Given the description of an element on the screen output the (x, y) to click on. 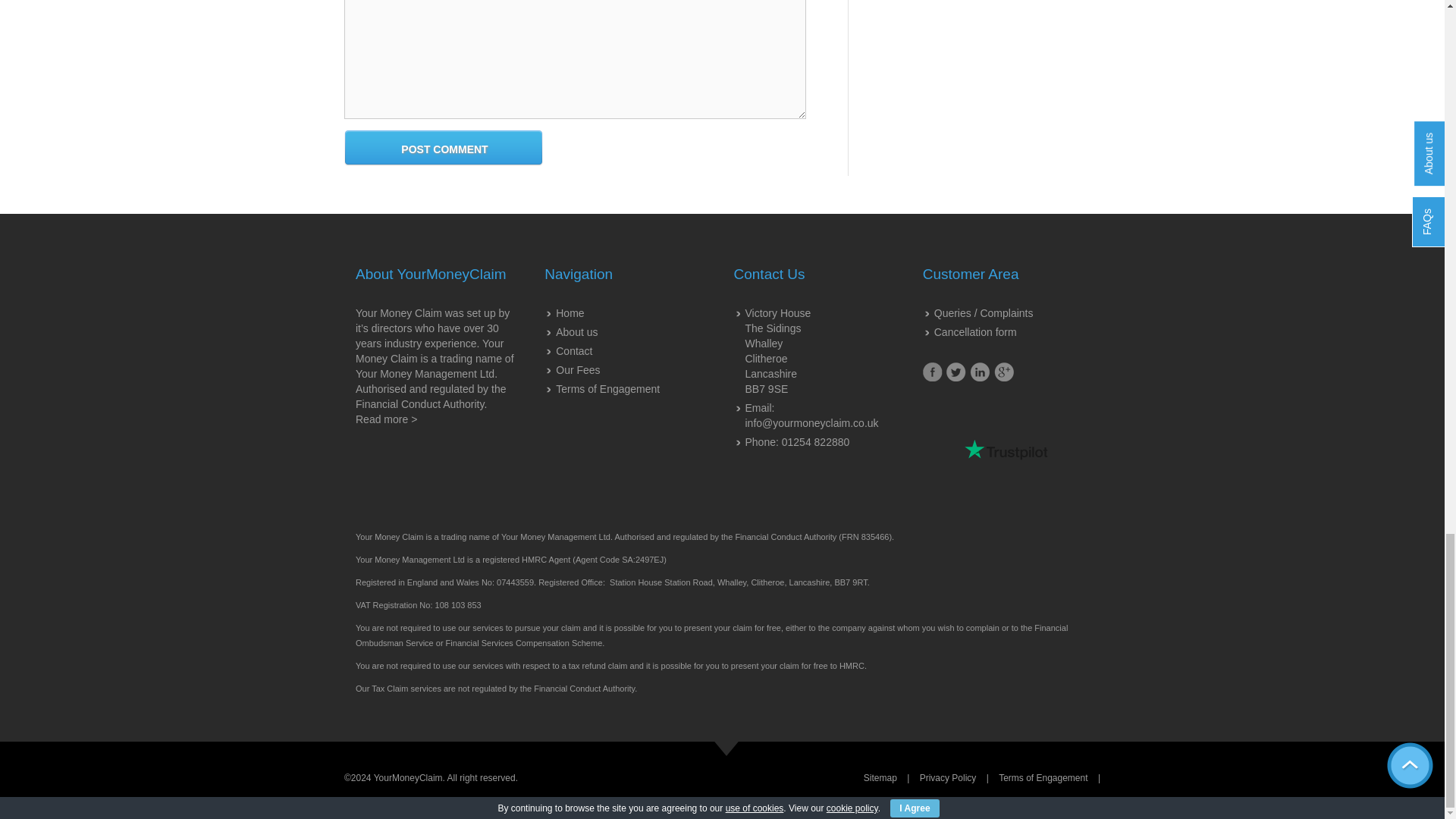
Customer reviews powered by Trustpilot (1006, 449)
Our Fees (577, 369)
Post Comment (443, 149)
Contact (574, 350)
Terms of Engagement (607, 388)
Cancellation form (975, 331)
About us (576, 331)
Home (569, 313)
Post Comment (443, 149)
